Given the description of an element on the screen output the (x, y) to click on. 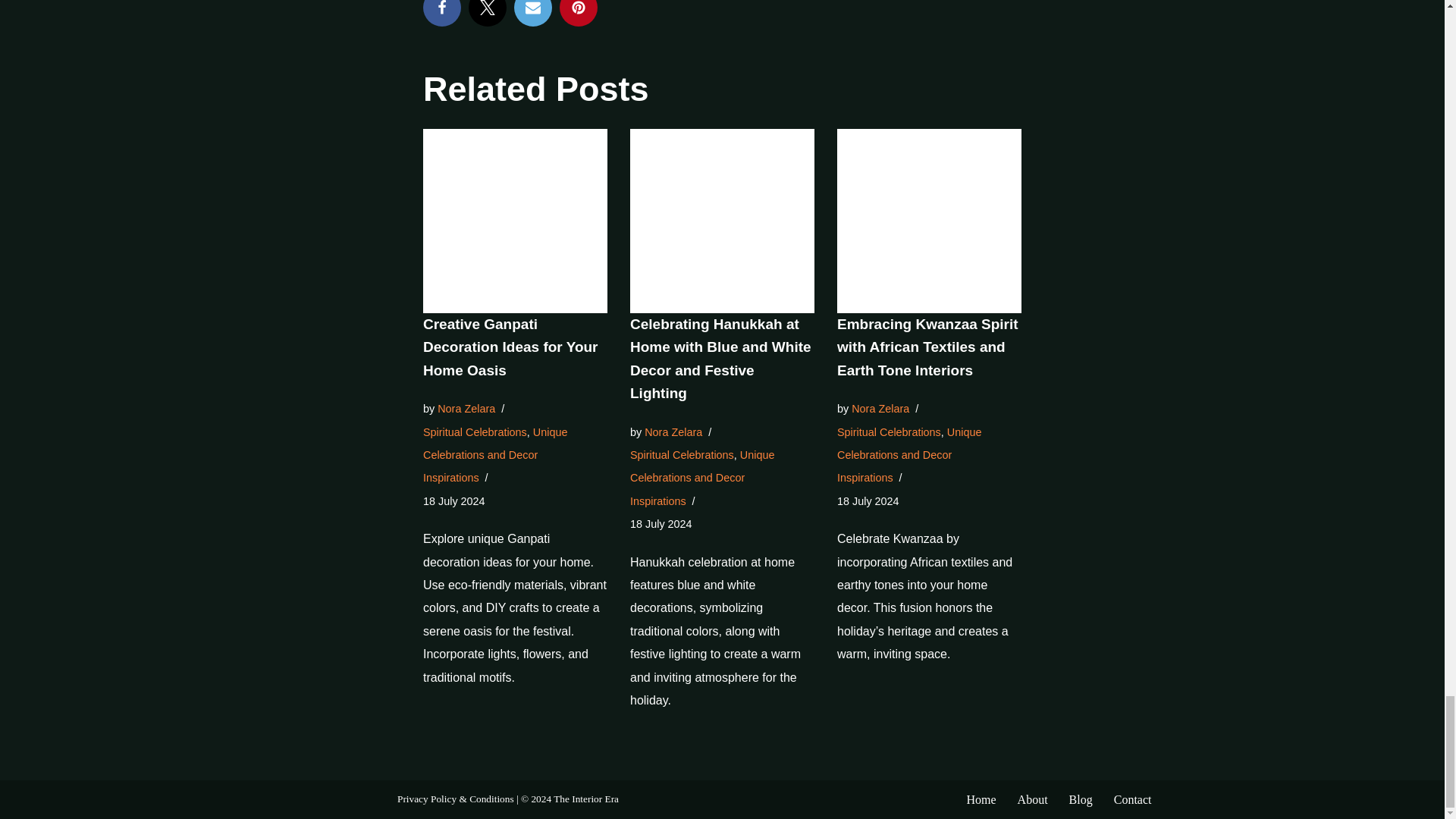
Email (532, 13)
Posts by Nora Zelara (879, 408)
Twitter (487, 13)
Creative Ganpati Decoration Ideas for Your Home Oasis (510, 347)
Unique Celebrations and Decor Inspirations (495, 454)
Posts by Nora Zelara (673, 431)
Spiritual Celebrations (475, 431)
Facebook (442, 13)
Nora Zelara (466, 408)
Pinterest (577, 13)
Posts by Nora Zelara (466, 408)
